Given the description of an element on the screen output the (x, y) to click on. 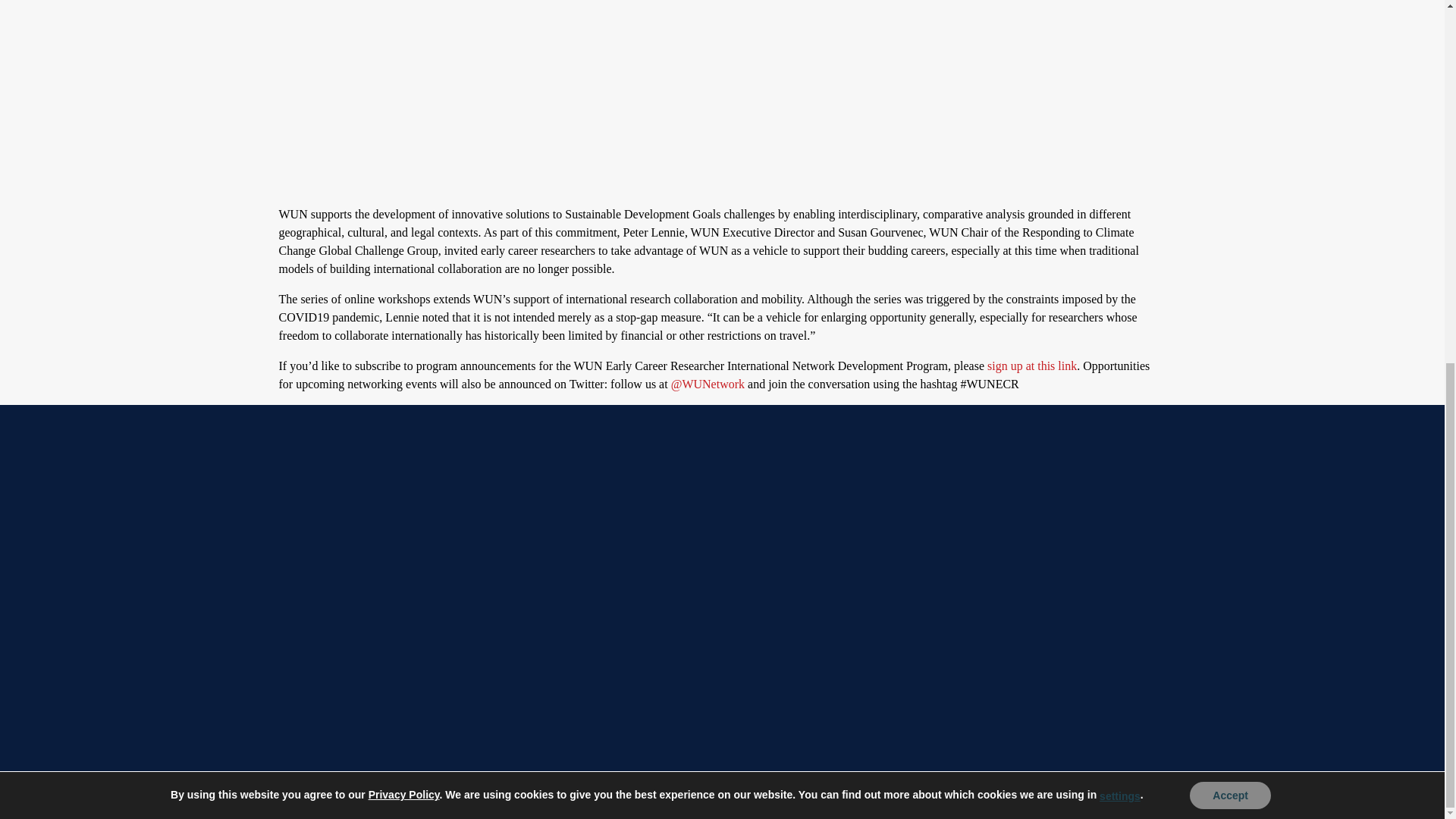
WUN ECR Workshop on SDG 4: Quality Education (521, 94)
